Given the description of an element on the screen output the (x, y) to click on. 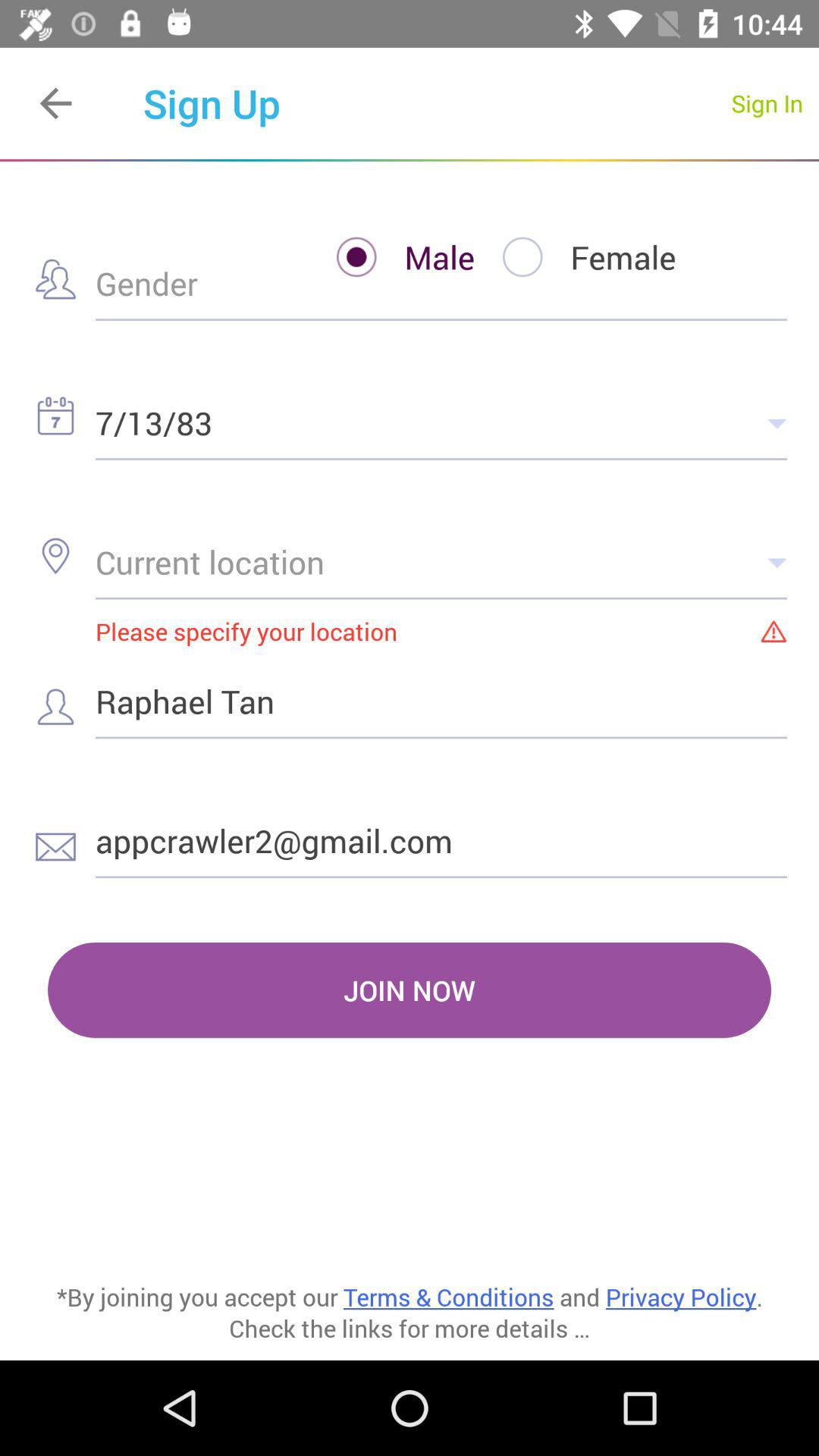
launch item below join now (409, 1198)
